Given the description of an element on the screen output the (x, y) to click on. 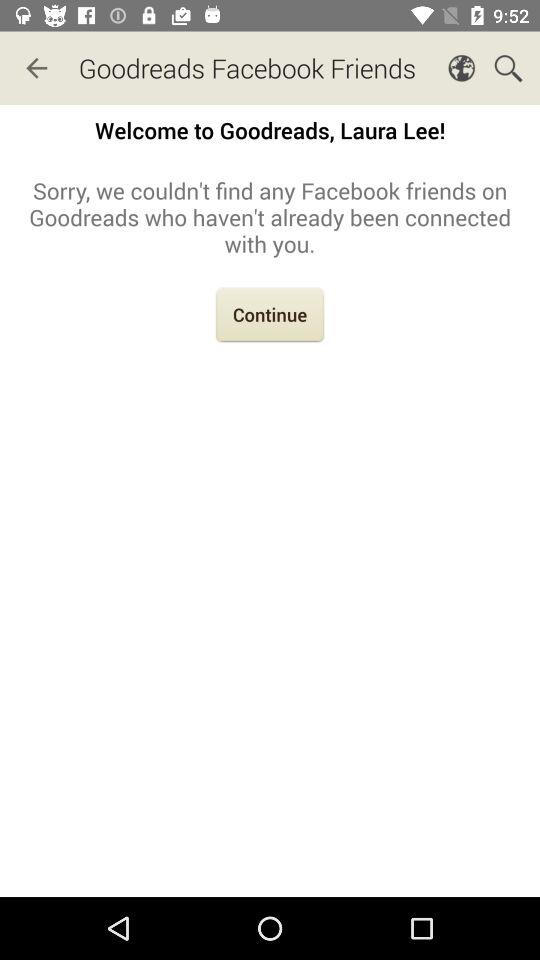
turn on the app to the left of goodreads facebook friends icon (36, 68)
